Given the description of an element on the screen output the (x, y) to click on. 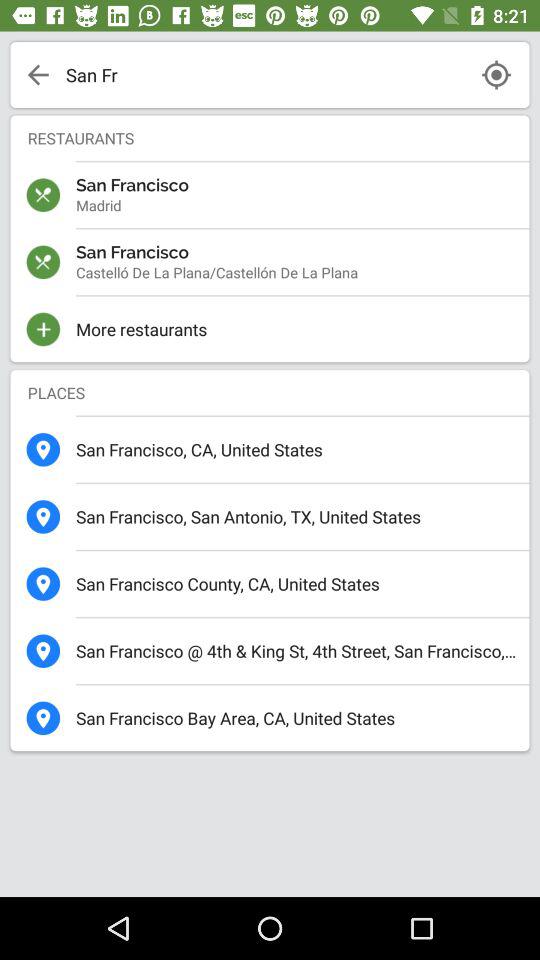
choose the san fr (264, 74)
